Given the description of an element on the screen output the (x, y) to click on. 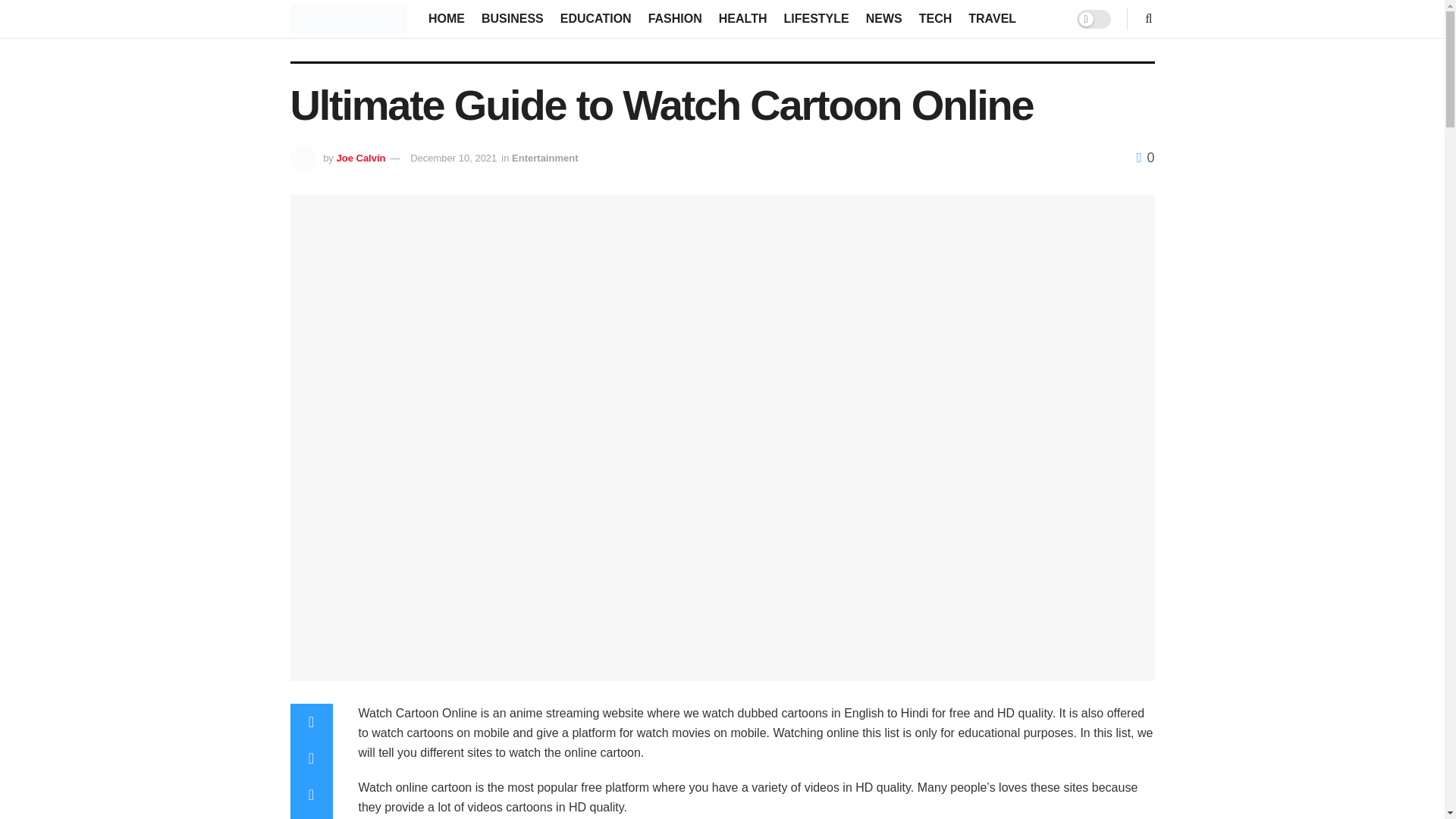
FASHION (674, 18)
HOME (446, 18)
Joe Calvin (360, 157)
HEALTH (743, 18)
NEWS (884, 18)
0 (1145, 157)
Entertainment (545, 157)
December 10, 2021 (453, 157)
EDUCATION (595, 18)
TECH (935, 18)
